Given the description of an element on the screen output the (x, y) to click on. 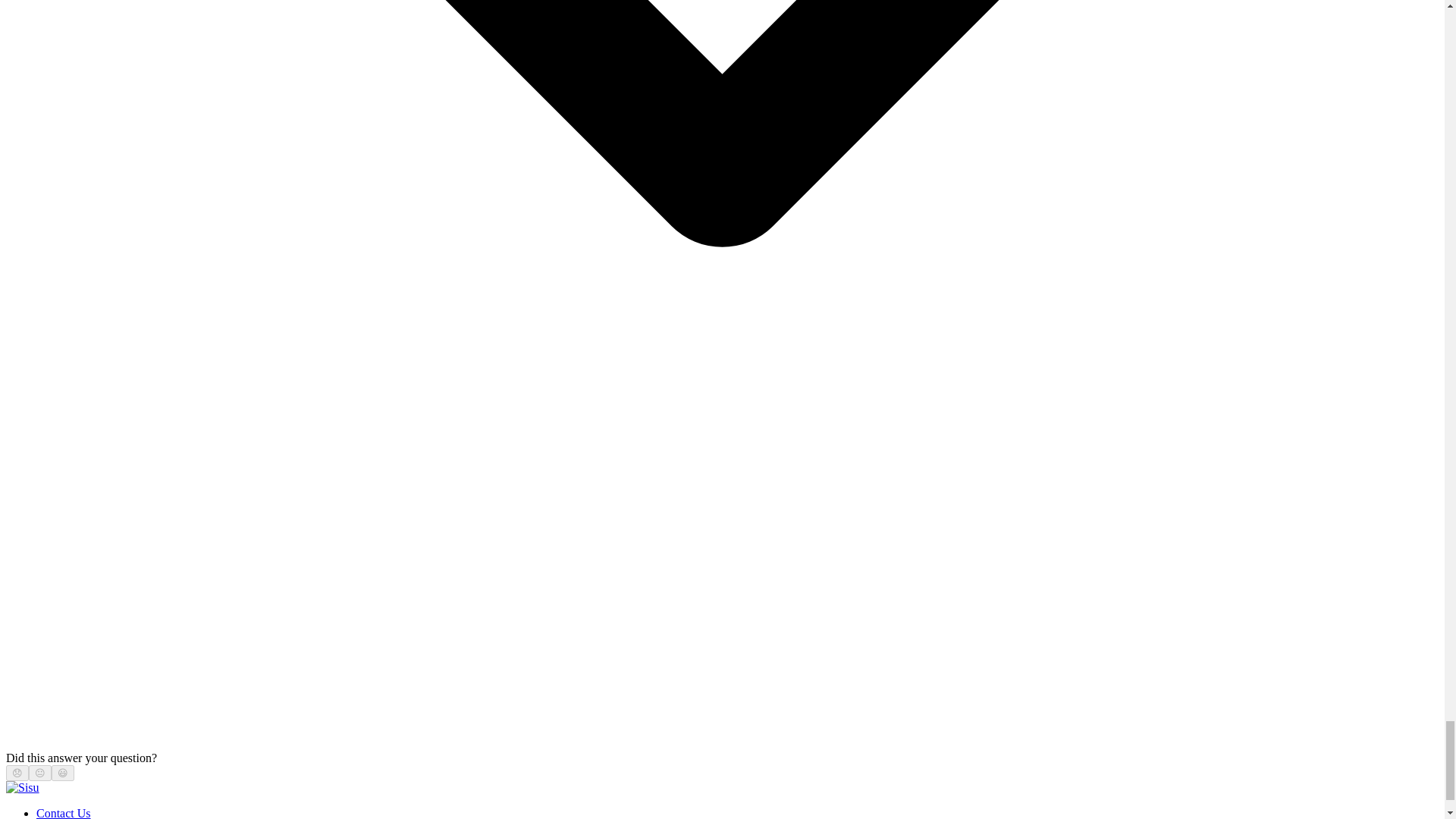
Smiley (63, 772)
Neutral (39, 772)
Contact Us (63, 812)
Disappointed (17, 772)
